Given the description of an element on the screen output the (x, y) to click on. 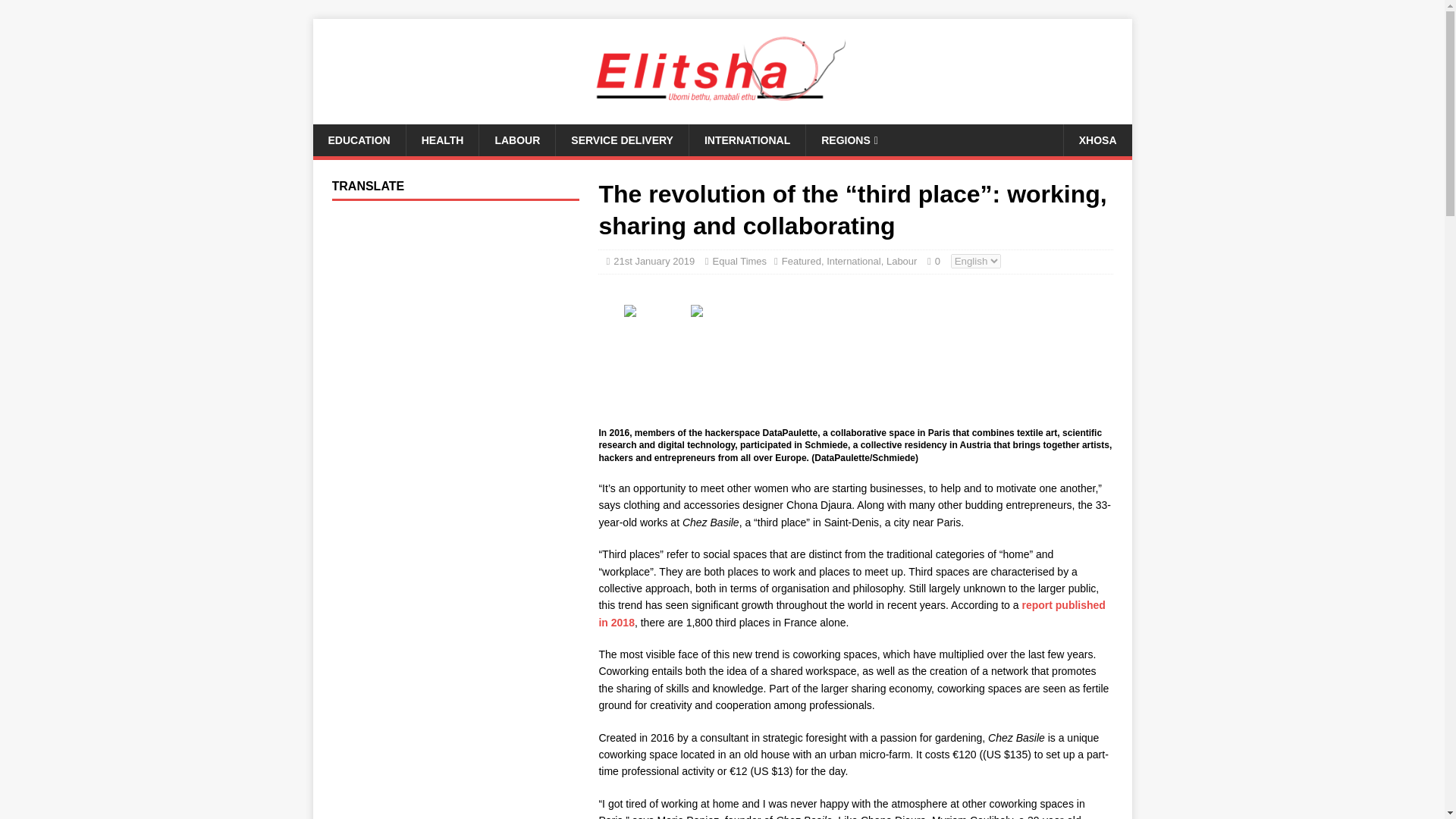
SERVICE DELIVERY (621, 140)
INTERNATIONAL (746, 140)
REGIONS (849, 140)
HEALTH (442, 140)
EDUCATION (358, 140)
Featured (801, 260)
XHOSA (1097, 140)
21st January 2019 (653, 260)
report published in 2018 (851, 613)
LABOUR (516, 140)
Labour (901, 260)
International (853, 260)
